Given the description of an element on the screen output the (x, y) to click on. 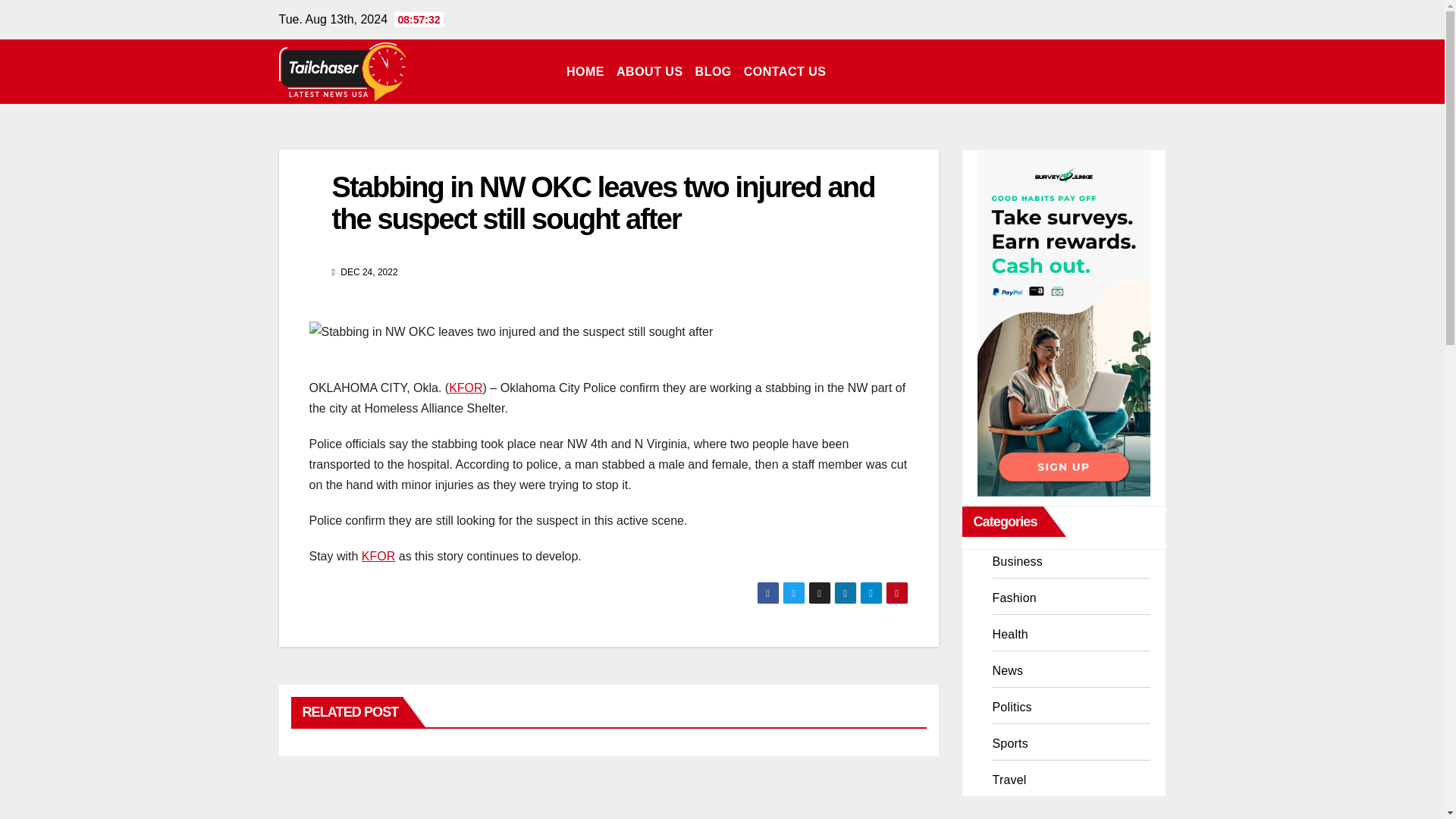
KFOR (464, 387)
KFOR (377, 555)
Health (1009, 634)
Politics (1010, 707)
ABOUT US (649, 71)
Sports (1009, 743)
Contact Us (785, 71)
CONTACT US (785, 71)
